Given the description of an element on the screen output the (x, y) to click on. 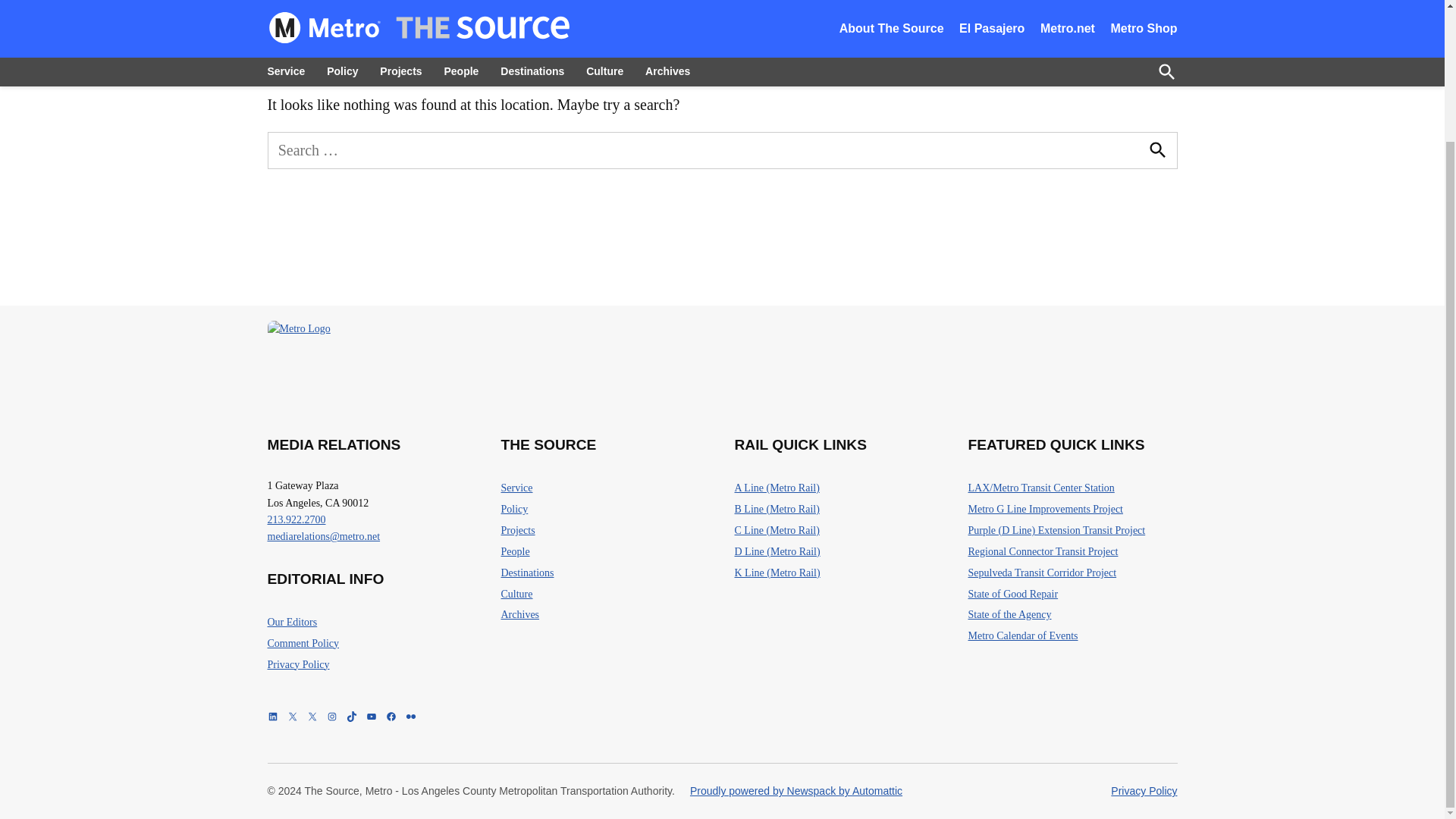
Service (516, 488)
Search (1156, 150)
213.922.2700 (295, 519)
Privacy Policy (297, 664)
Comment Policy (302, 643)
Our Editors (291, 621)
